Given the description of an element on the screen output the (x, y) to click on. 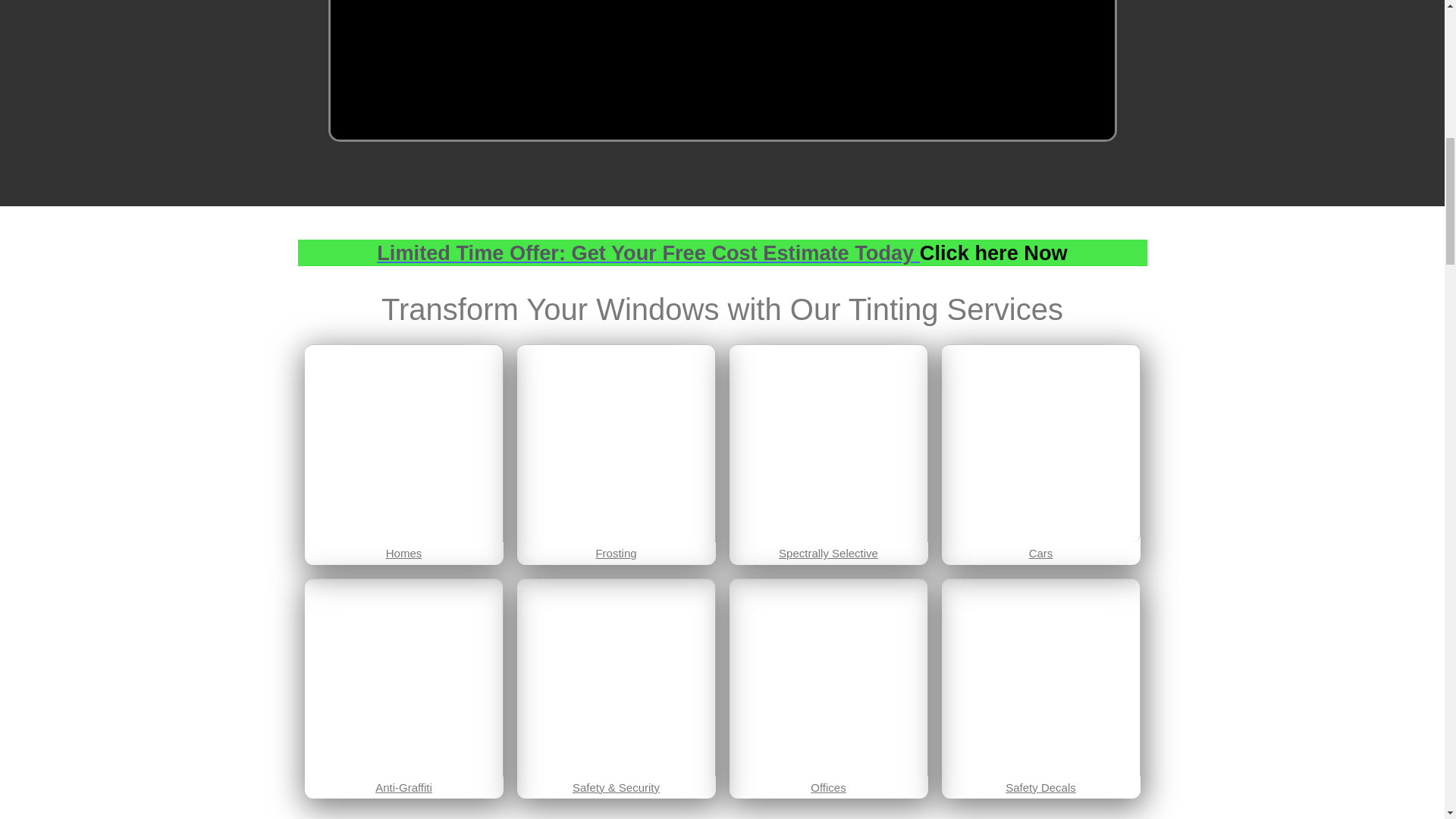
 - Sydney Tint Solutions - Sydney Tint Solutions (828, 442)
 - Sydney Tint Solutions - Sydney Tint Solutions (616, 677)
